Given the description of an element on the screen output the (x, y) to click on. 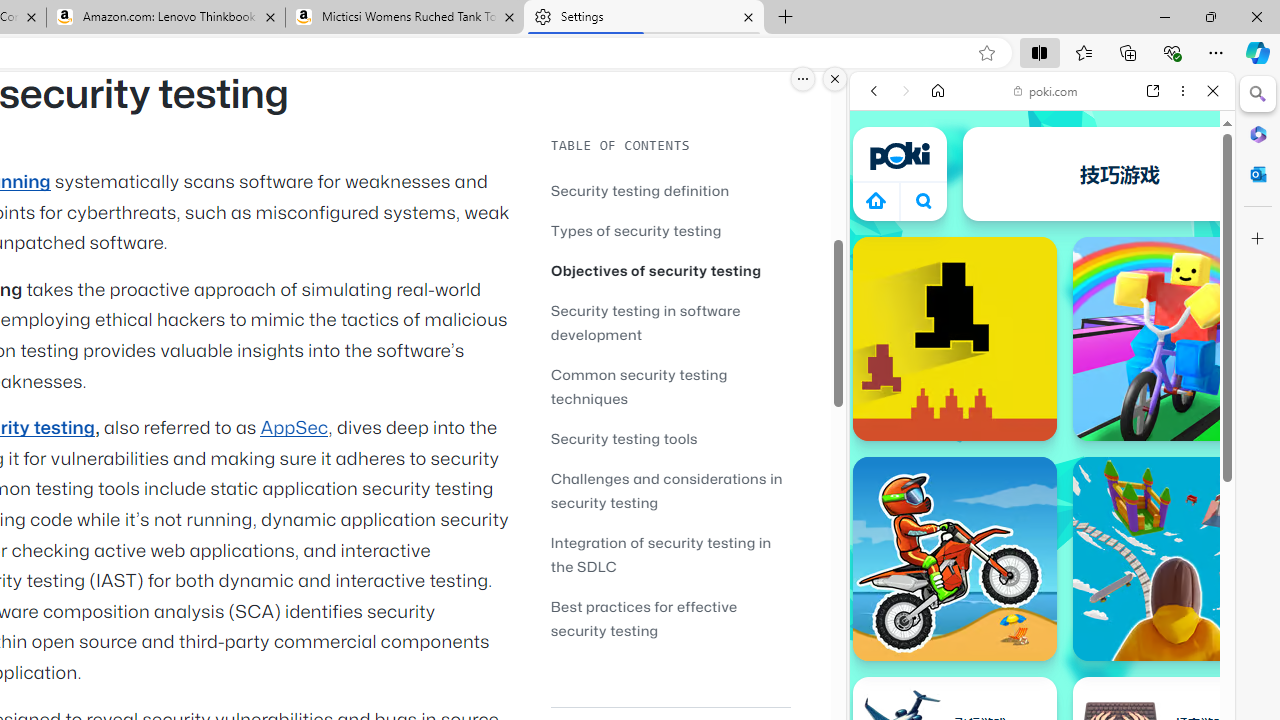
Poki (1034, 288)
Search Filter, VIDEOS (1006, 228)
Preferences (1189, 228)
SimplyUp.io SimplyUp.io (1174, 558)
Close split screen. (835, 79)
Level Devil (954, 338)
Settings (643, 17)
More options. (803, 79)
Search Filter, WEB (882, 228)
WEB   (882, 228)
Two Player Games (1042, 568)
Moto X3M (954, 558)
Ping Pong Go! (1119, 173)
Home (938, 91)
Close tab (747, 16)
